Given the description of an element on the screen output the (x, y) to click on. 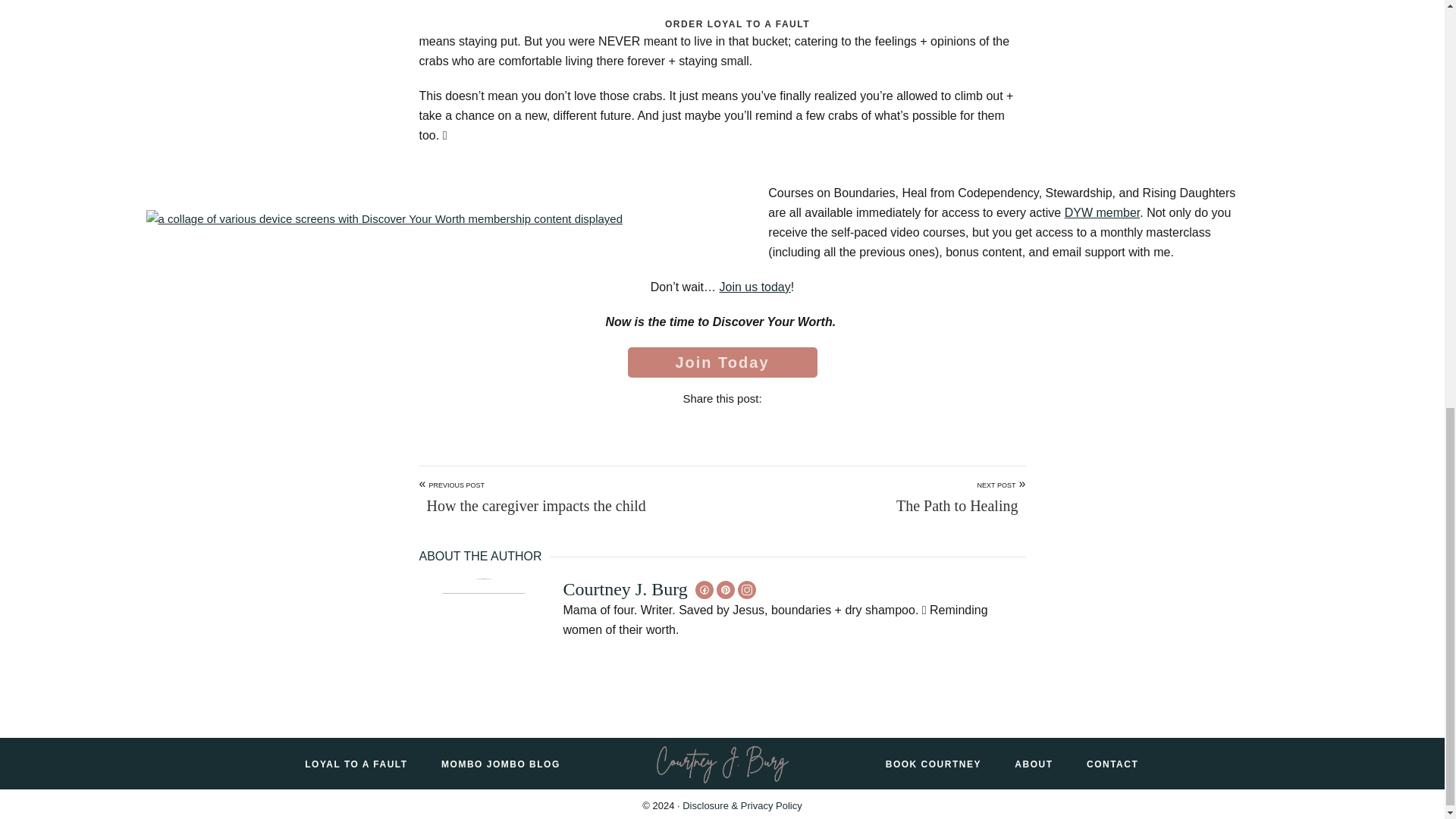
How the caregiver impacts the child (532, 505)
DYW member (1102, 212)
The Path to Healing (957, 505)
Join Today (721, 362)
Join us today (754, 286)
